Given the description of an element on the screen output the (x, y) to click on. 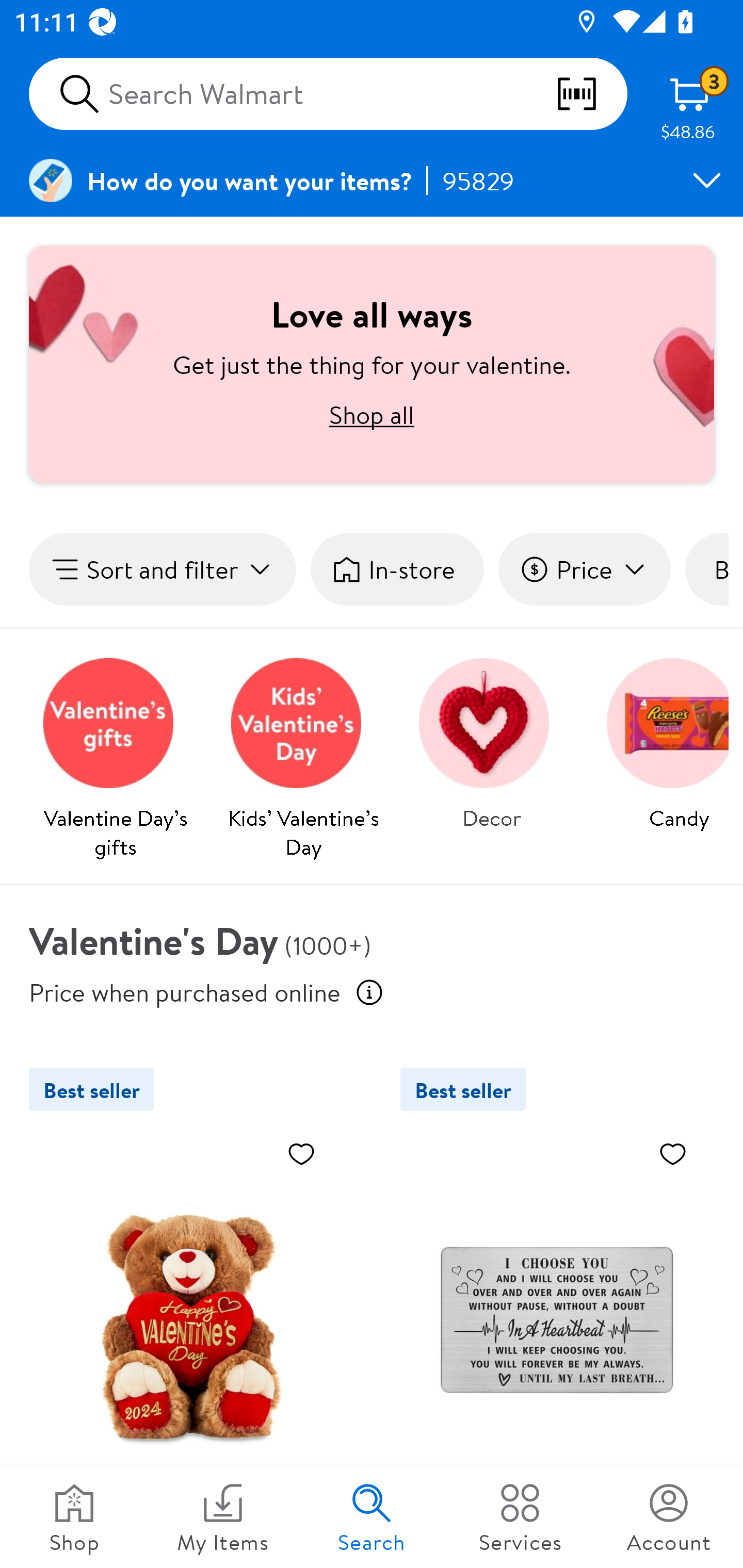
Search Walmart scan barcodes qr codes and more (327, 94)
scan barcodes qr codes and more (591, 94)
Shop all (371, 413)
Search by Decor Decor (491, 738)
Search by Candy Candy (660, 738)
Price when purchased online (184, 991)
Price when purchased online (369, 992)
Shop (74, 1517)
My Items (222, 1517)
Services (519, 1517)
Account (668, 1517)
